Given the description of an element on the screen output the (x, y) to click on. 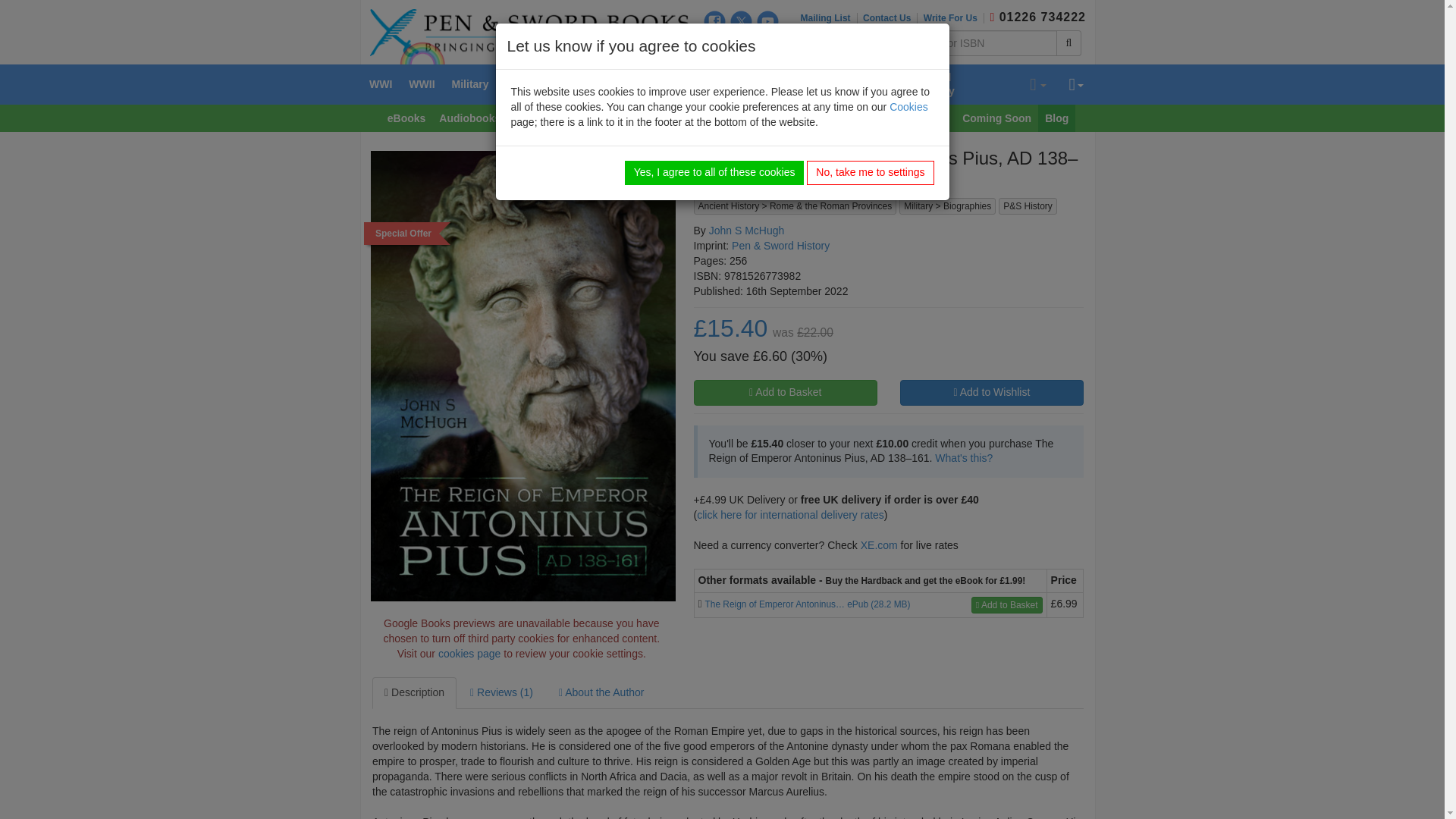
TikTok (741, 45)
YouTube (767, 21)
Mailing List (828, 18)
Contact Us (890, 18)
Write For Us (953, 18)
Instagram (714, 45)
Your basket is empty (1037, 84)
Facebook (714, 21)
NetGalley (767, 45)
X (741, 21)
